Given the description of an element on the screen output the (x, y) to click on. 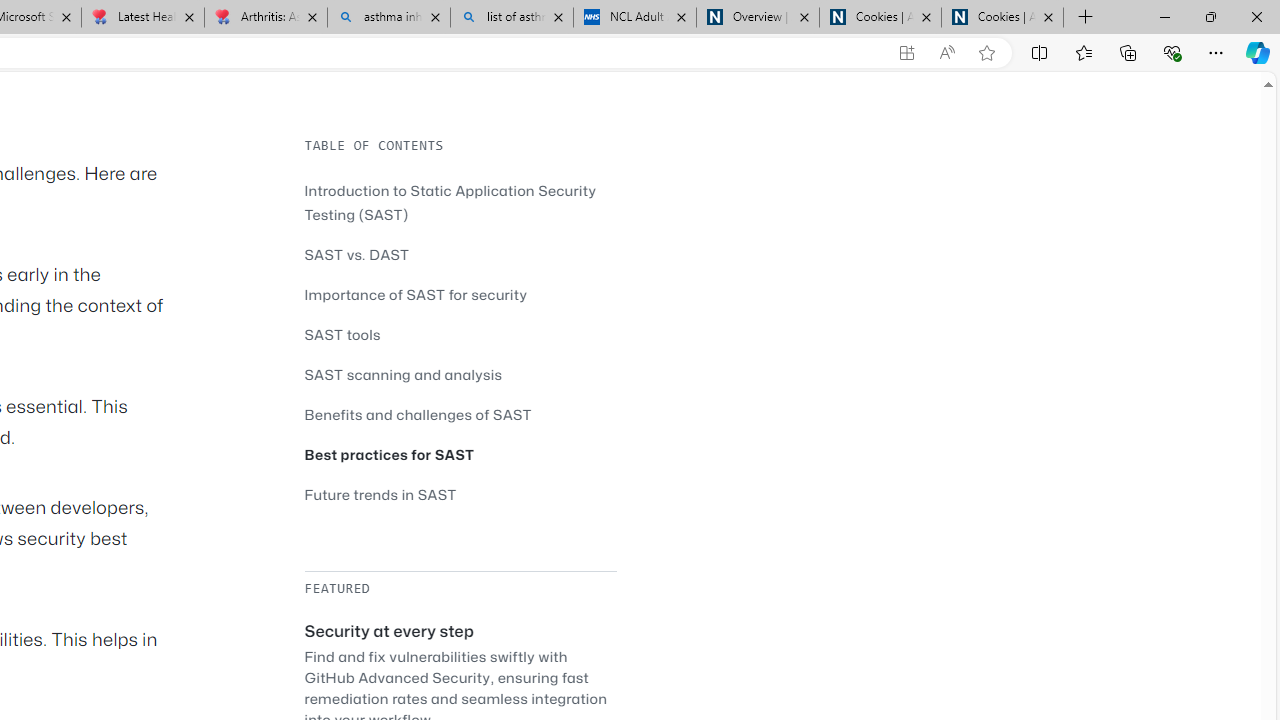
Introduction to Static Application Security Testing (SAST) (460, 201)
list of asthma inhalers uk - Search (511, 17)
SAST scanning and analysis (460, 374)
Introduction to Static Application Security Testing (SAST) (450, 202)
SAST vs. DAST (460, 254)
Importance of SAST for security (460, 294)
Importance of SAST for security (415, 294)
Benefits and challenges of SAST (460, 413)
SAST tools (342, 334)
SAST scanning and analysis (403, 374)
Arthritis: Ask Health Professionals (265, 17)
